Given the description of an element on the screen output the (x, y) to click on. 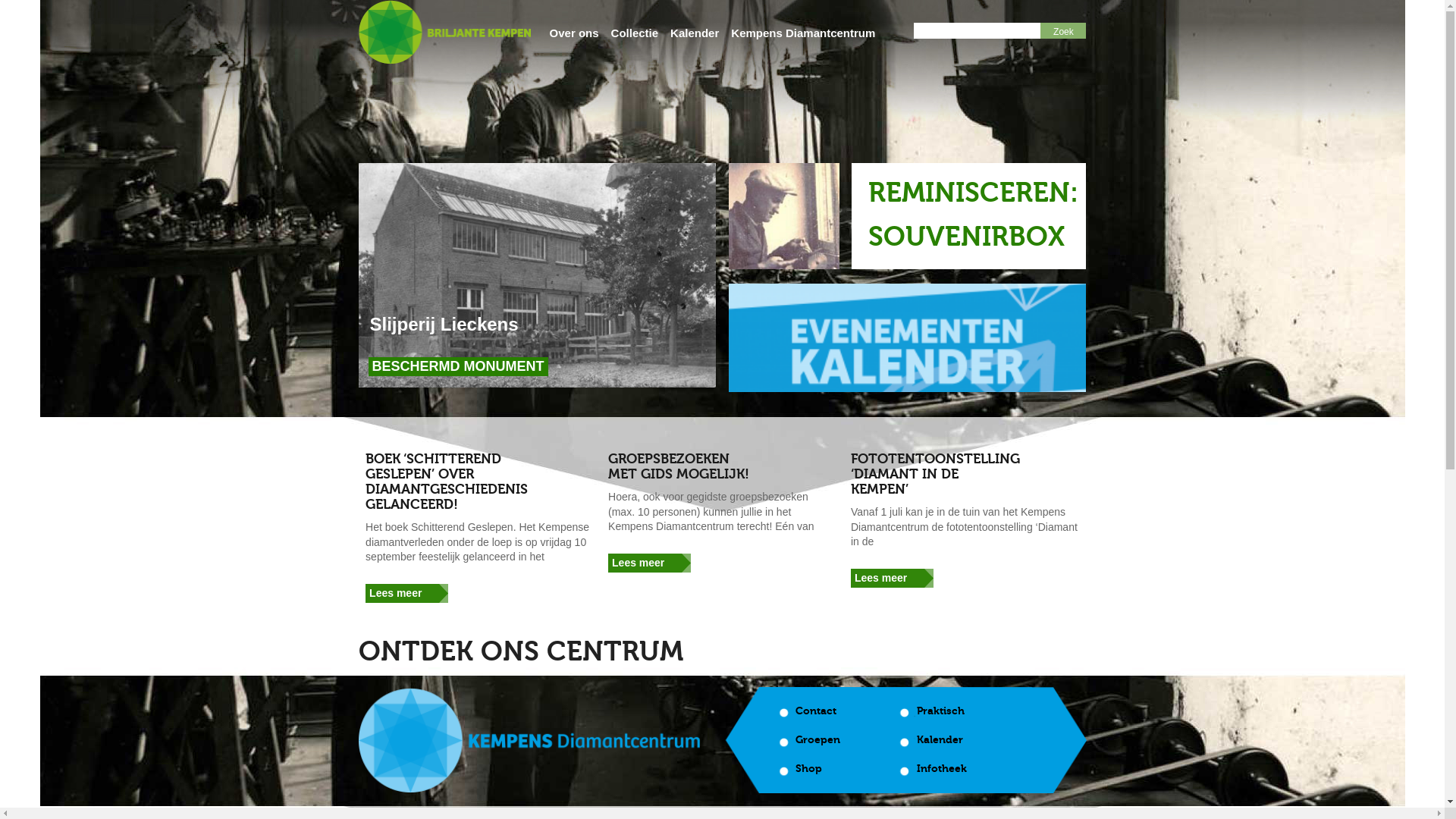
Zoek Element type: text (1063, 31)
REMINISCEREN Element type: text (969, 192)
SOUVENIRBOX Element type: text (966, 236)
Kempens Diamantcentrum Element type: text (802, 32)
Collectie Element type: text (635, 32)
Kalender Element type: text (939, 739)
Infotheek Element type: text (941, 768)
Shop Element type: text (807, 768)
BESCHERMD MONUMENT Element type: text (457, 365)
Slijperij Lieckens Element type: text (441, 323)
Groepen Element type: text (816, 739)
Contact Element type: text (814, 710)
Lees meer Element type: text (651, 562)
Lees meer Element type: text (894, 577)
Over ons Element type: text (574, 32)
Kalender Element type: text (694, 32)
Lees meer Element type: text (408, 592)
Praktisch Element type: text (939, 710)
